Given the description of an element on the screen output the (x, y) to click on. 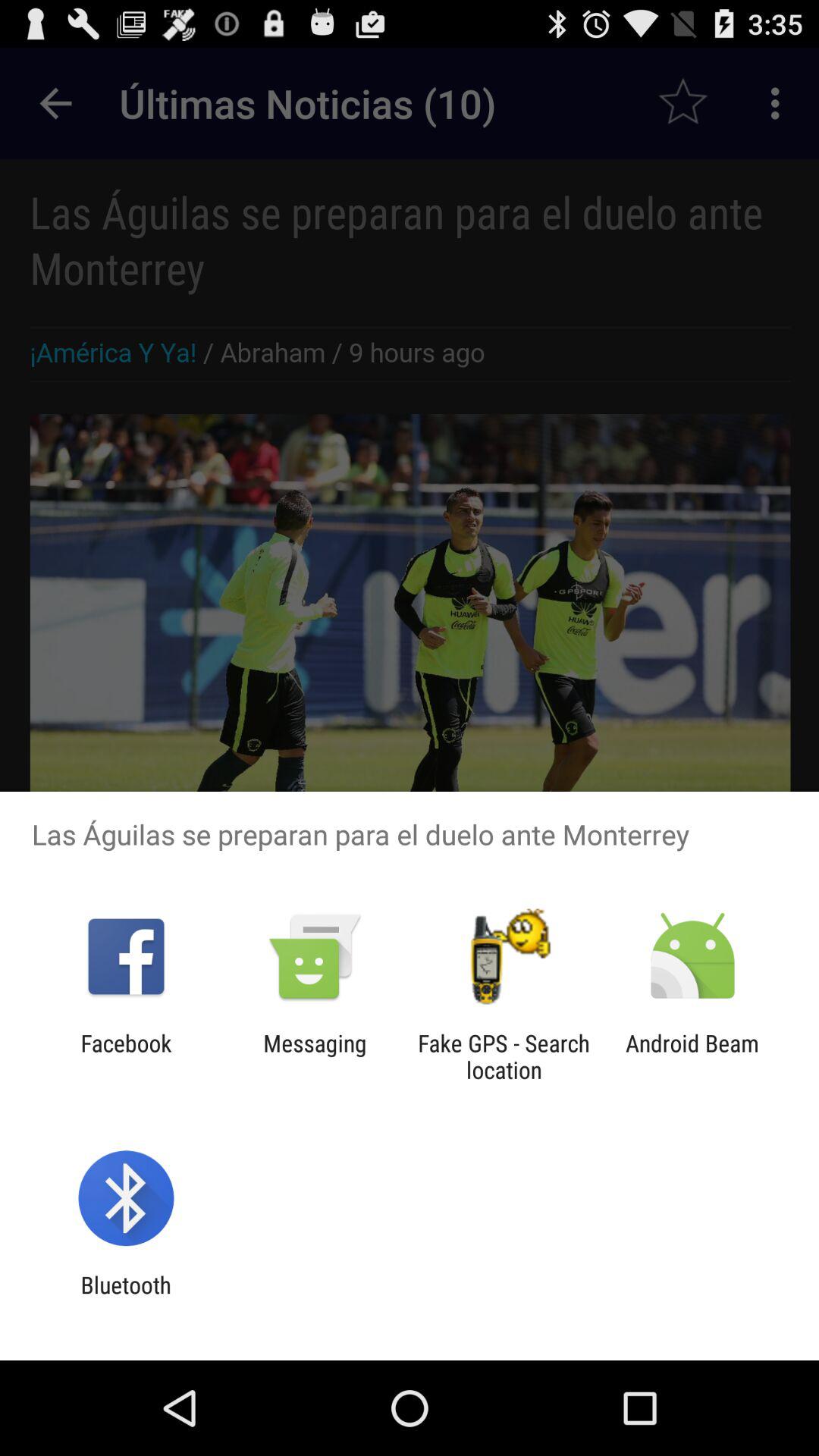
turn on android beam at the bottom right corner (692, 1056)
